Given the description of an element on the screen output the (x, y) to click on. 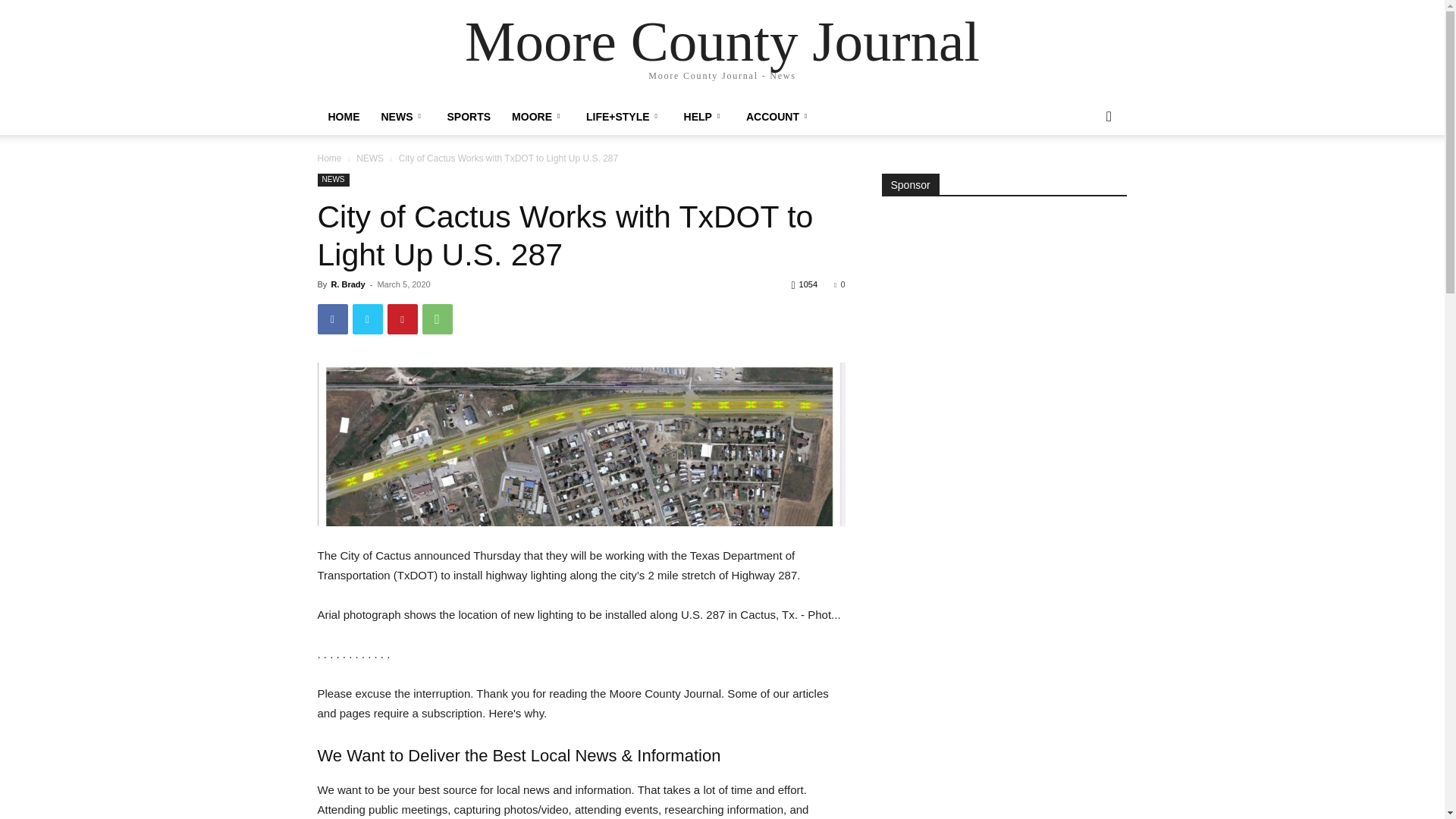
ACCOUNT (778, 116)
Moore County Journal (721, 41)
View all posts in NEWS (370, 158)
NEWS (370, 158)
NEWS (402, 116)
R. Brady (347, 284)
Facebook (332, 318)
SPORTS (469, 116)
WhatsApp (436, 318)
MOORE (537, 116)
HOME (343, 116)
NEWS (333, 179)
Pinterest (401, 318)
Home (328, 158)
Twitter (366, 318)
